Given the description of an element on the screen output the (x, y) to click on. 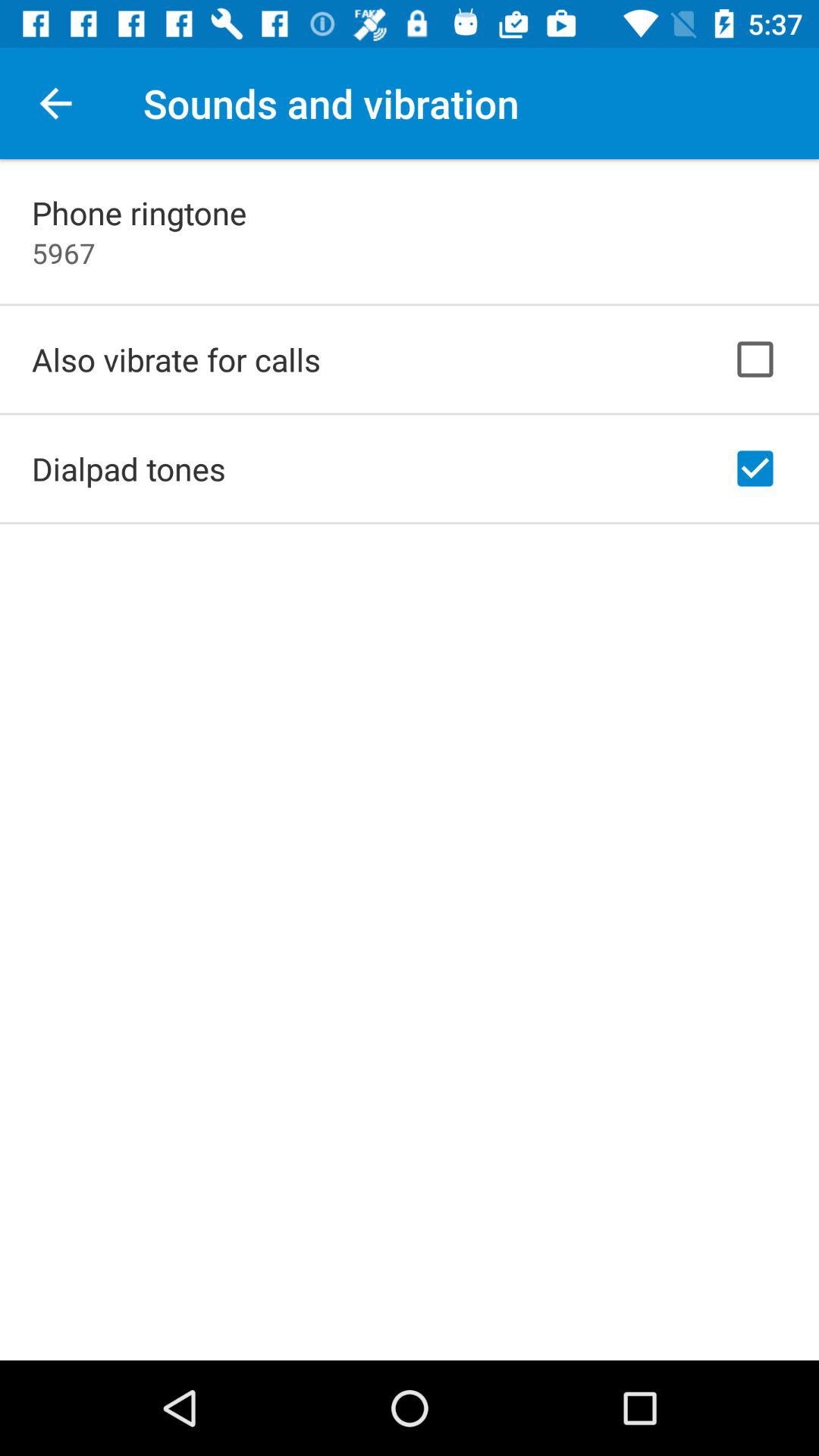
click the icon below 5967 item (175, 359)
